Given the description of an element on the screen output the (x, y) to click on. 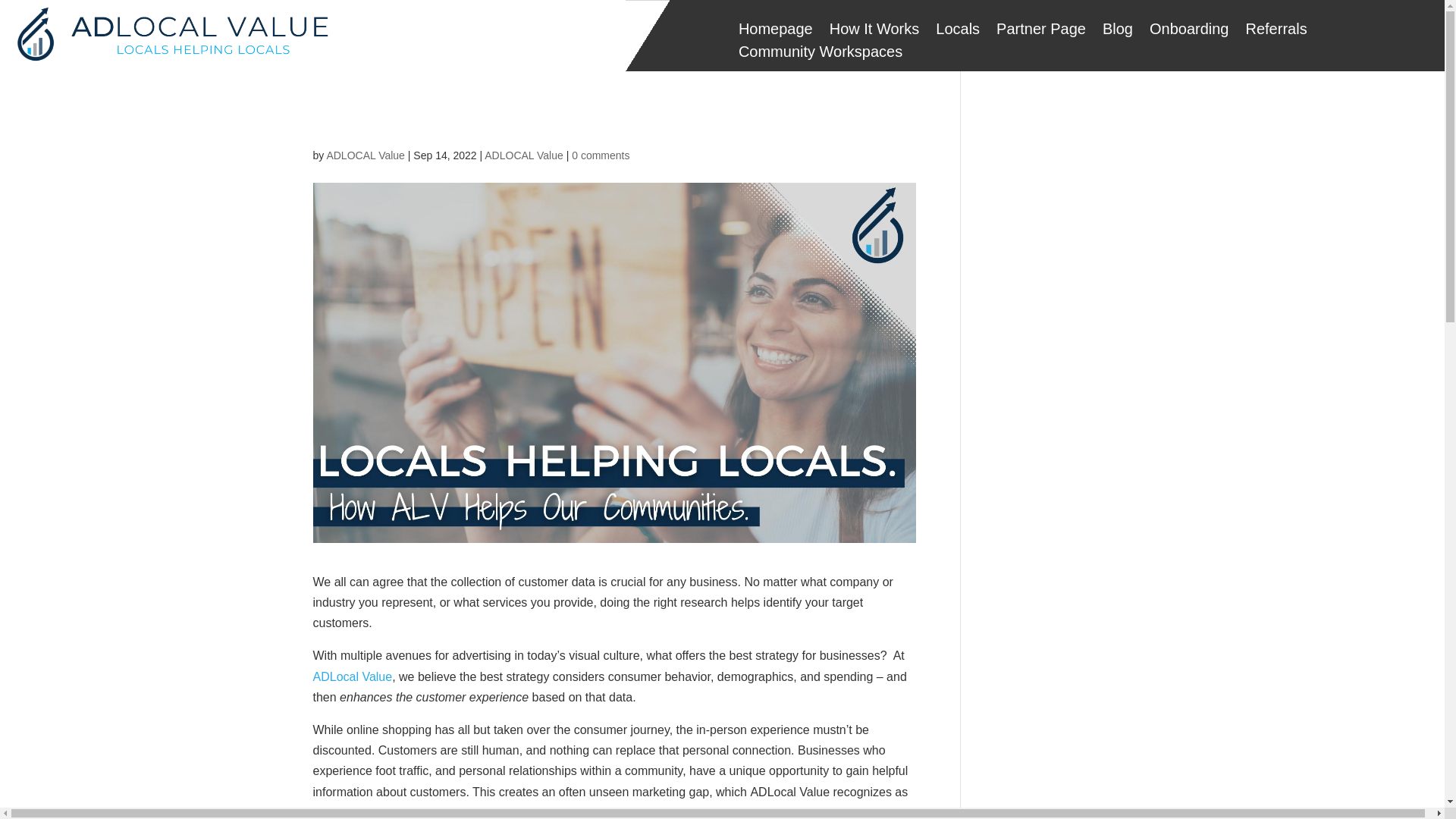
ADLocal Value (352, 676)
Locals (957, 31)
Community Workspaces (820, 54)
Referrals (1275, 31)
ALV One Line (170, 34)
Blog (1117, 31)
Posts by ADLOCAL Value (365, 155)
Onboarding (1189, 31)
0 comments (600, 155)
How It Works (874, 31)
Homepage (775, 31)
Partner Page (1040, 31)
ADLOCAL Value (523, 155)
ADLOCAL Value (365, 155)
